Given the description of an element on the screen output the (x, y) to click on. 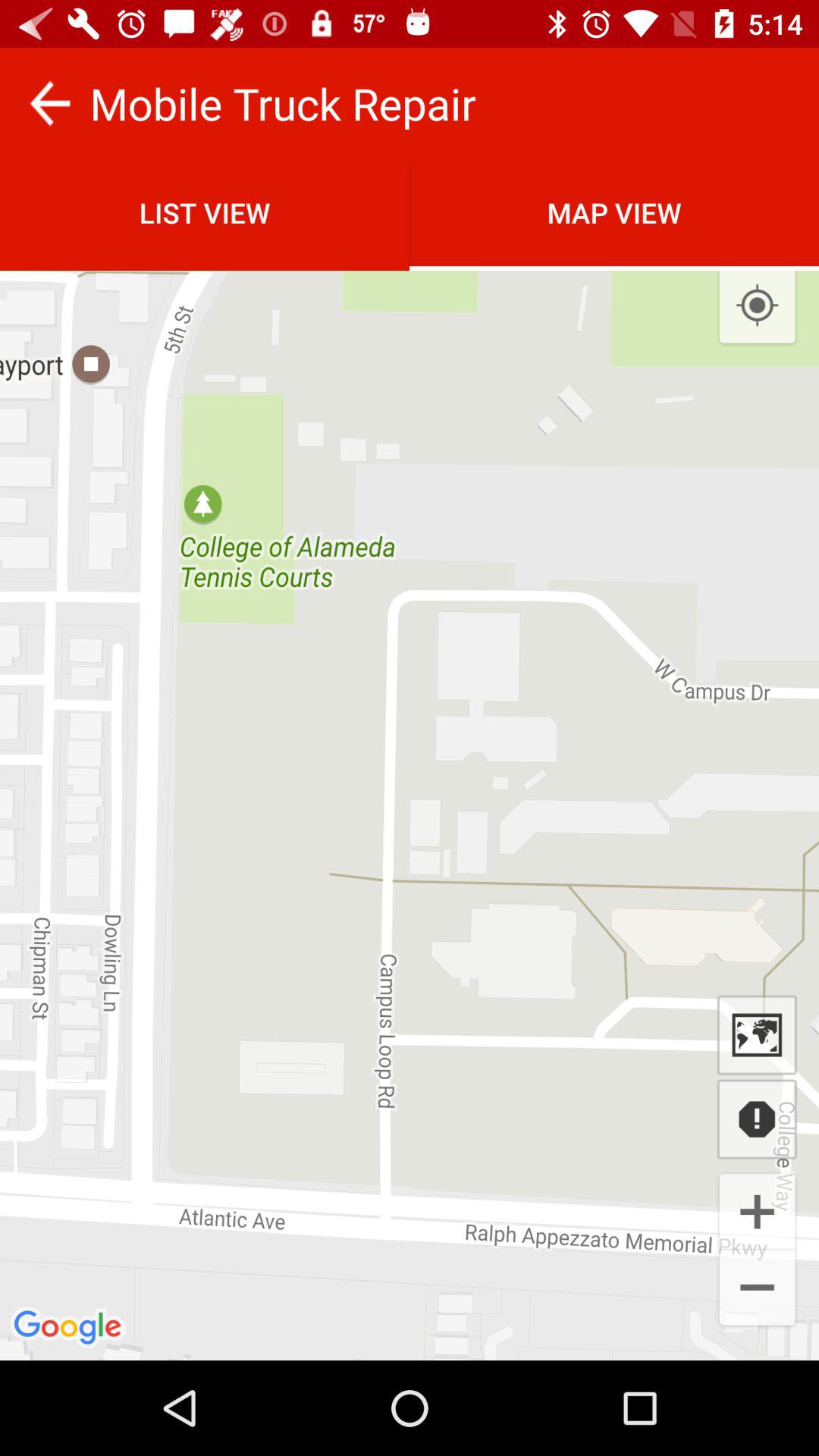
turn off item to the right of list view app (614, 212)
